Given the description of an element on the screen output the (x, y) to click on. 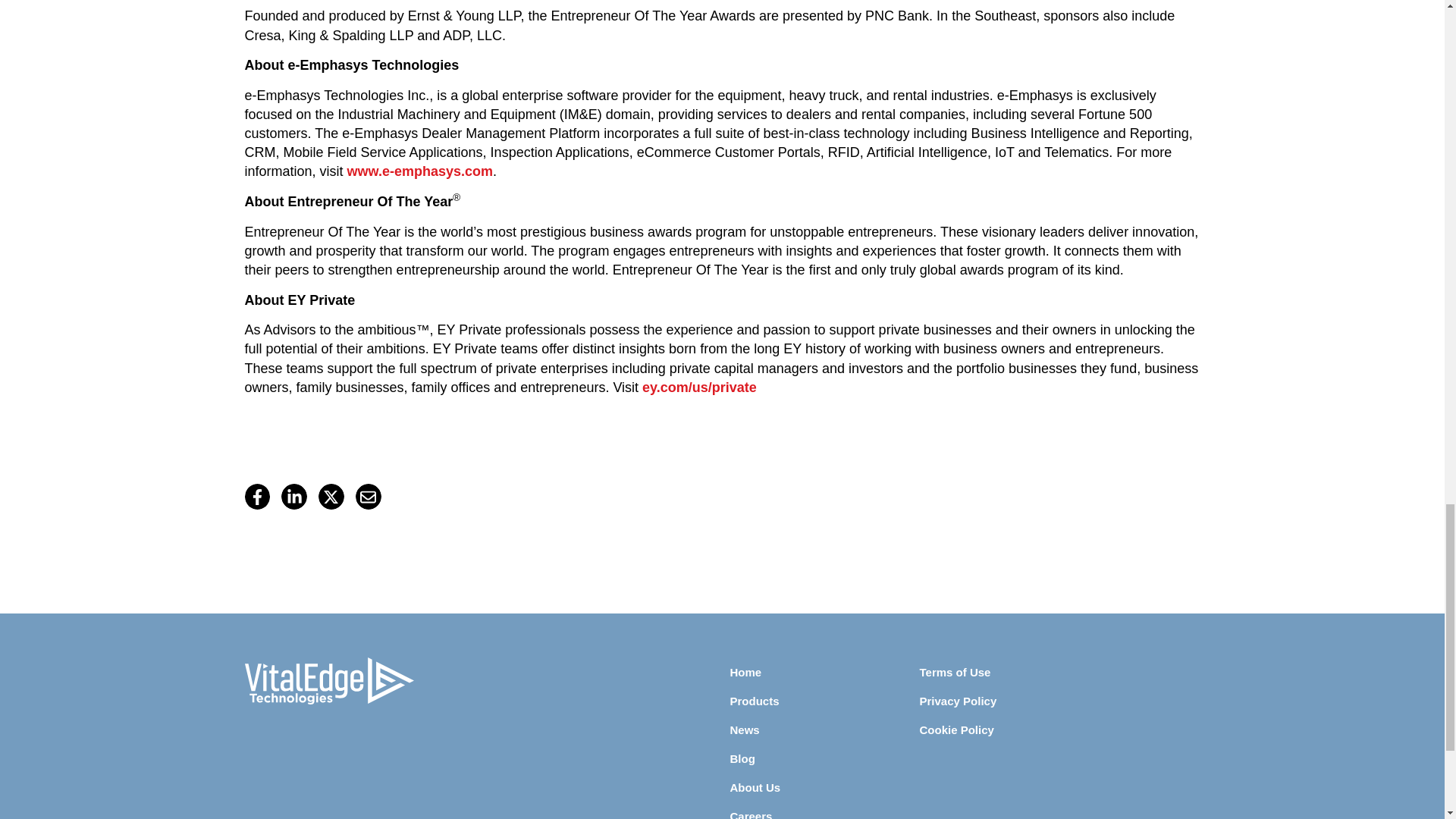
News (823, 729)
Home (823, 672)
Products (823, 701)
www.e-emphasys.com (420, 171)
